Given the description of an element on the screen output the (x, y) to click on. 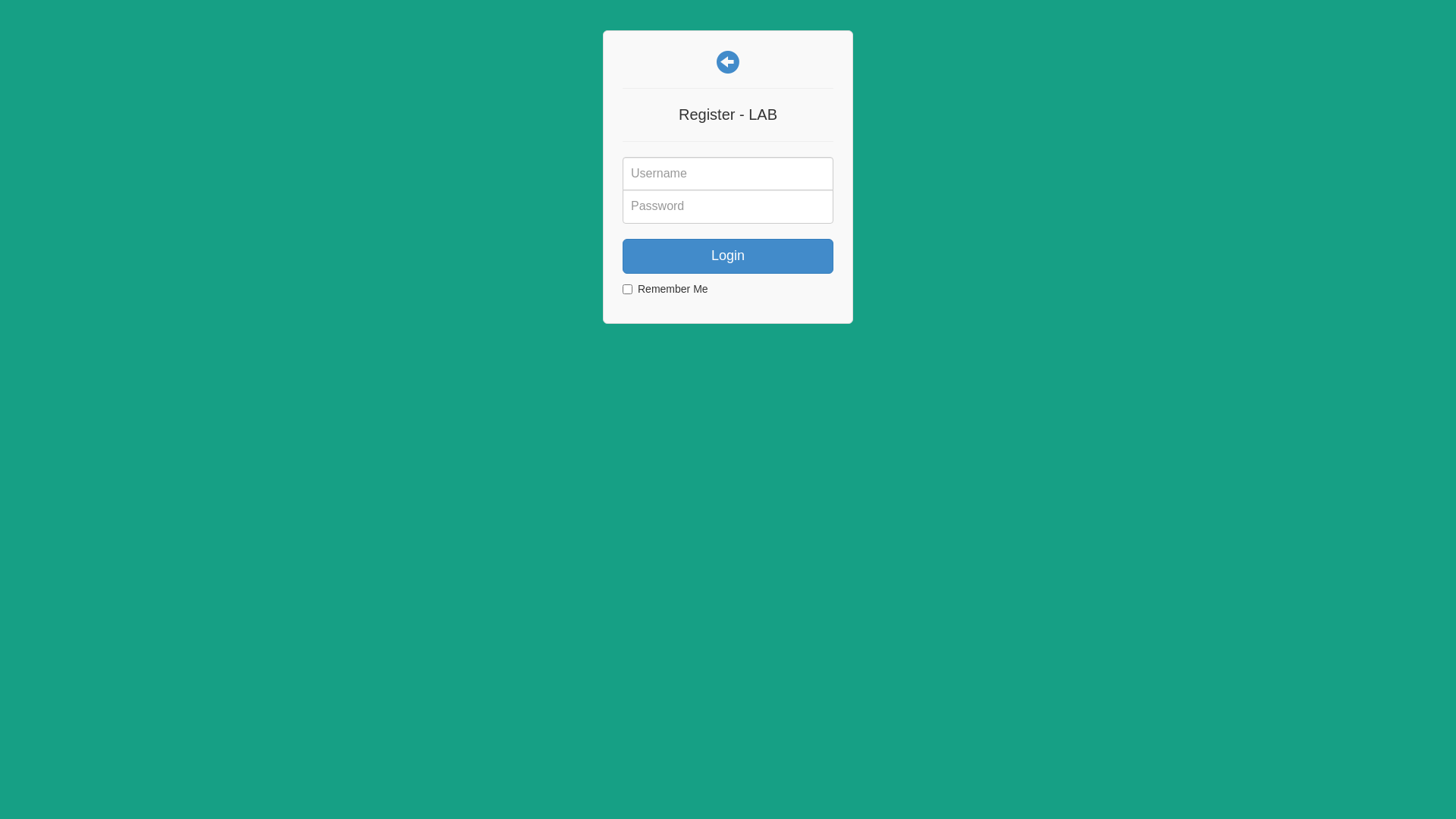
Login Element type: text (727, 255)
